Given the description of an element on the screen output the (x, y) to click on. 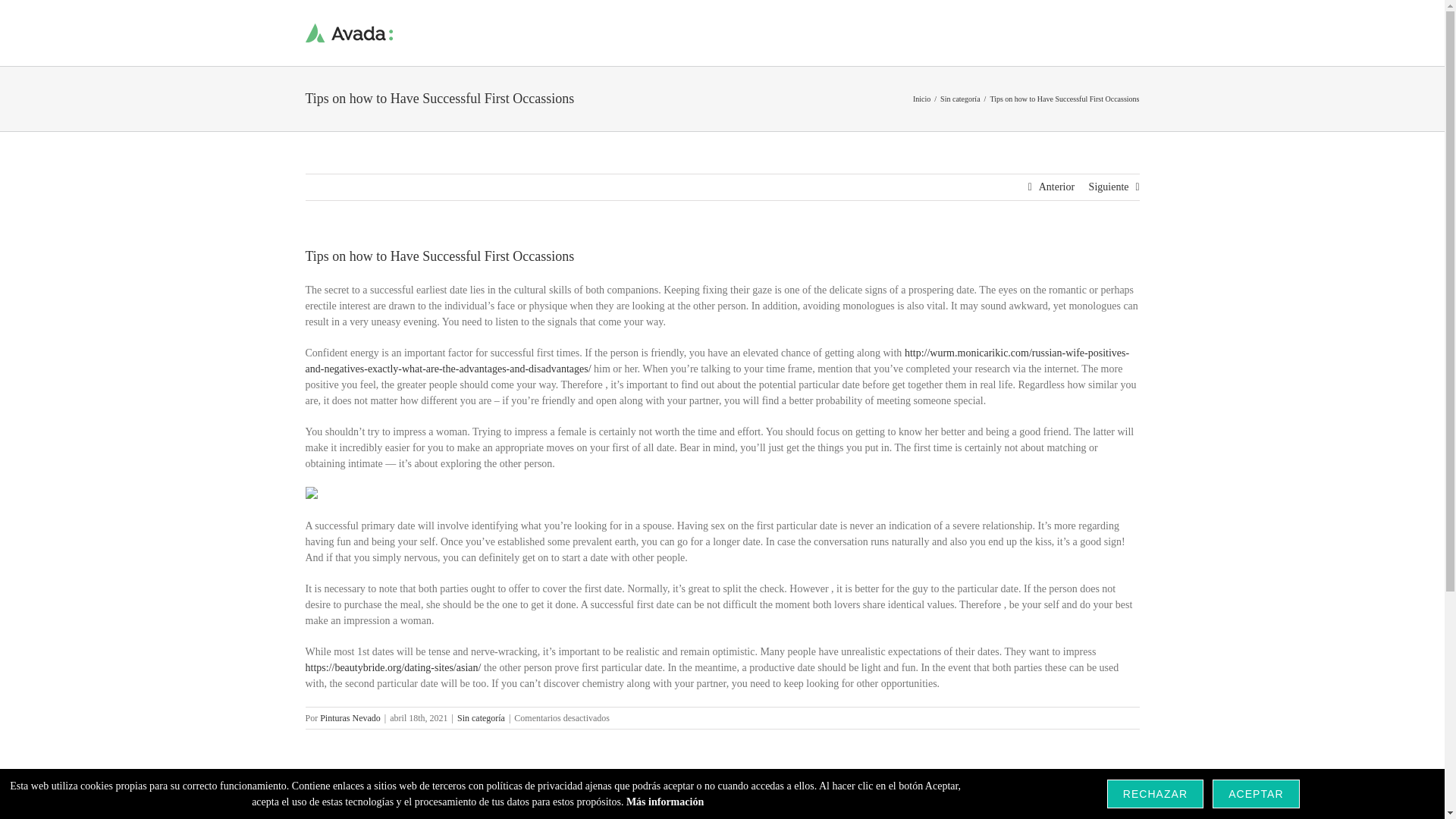
LinkedIn (1043, 801)
X (1005, 801)
Vk (1102, 801)
Pinterest (1082, 801)
Tumblr (1063, 801)
Facebook (984, 801)
LinkedIn (1043, 801)
Siguiente (1109, 186)
Tumblr (1063, 801)
Facebook (984, 801)
Reddit (1024, 801)
X (1005, 801)
Vk (1102, 801)
Inicio (921, 99)
Anterior (1056, 186)
